Given the description of an element on the screen output the (x, y) to click on. 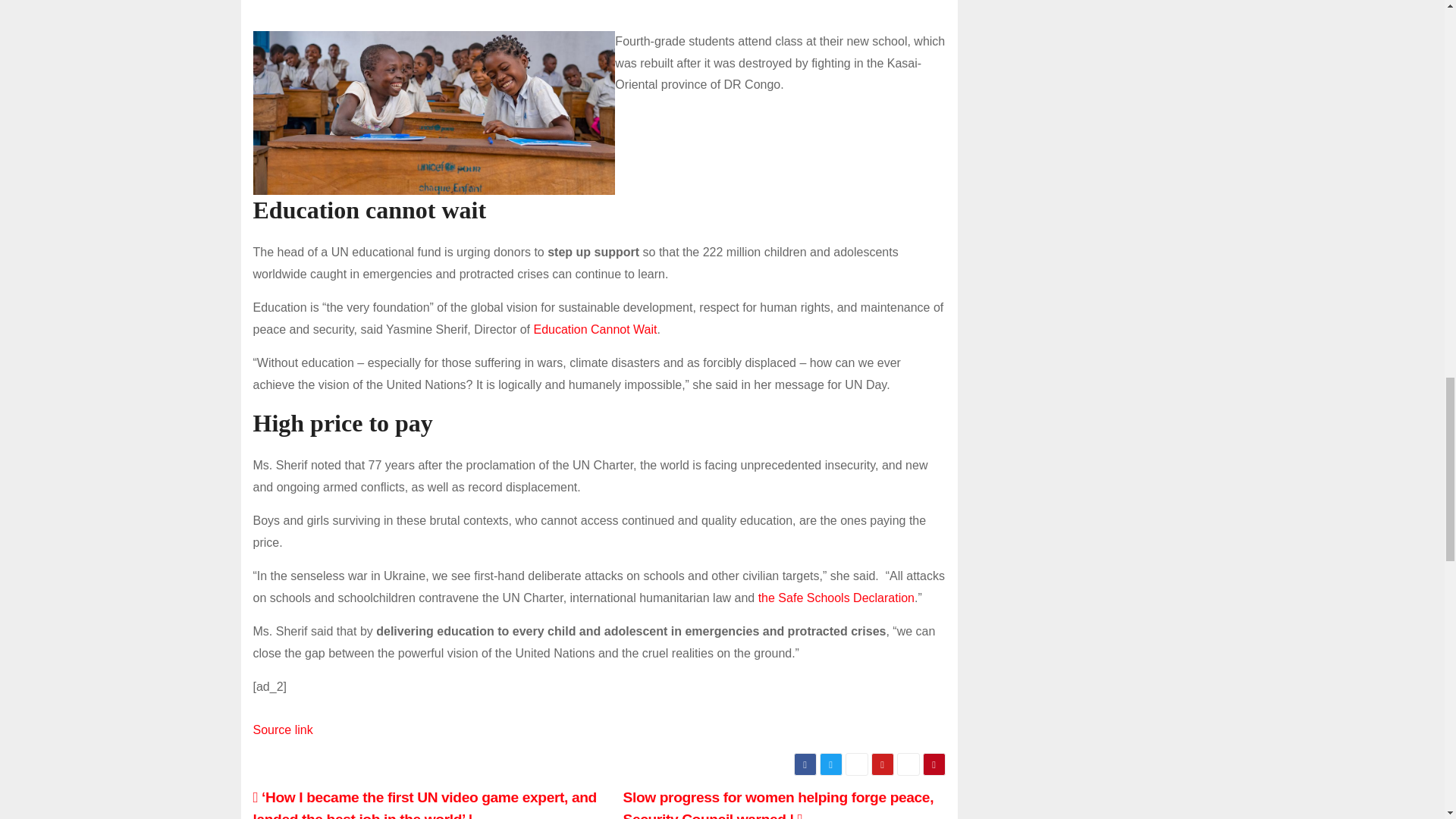
the Safe Schools Declaration (836, 597)
Education Cannot Wait (594, 328)
Source link (283, 729)
